Given the description of an element on the screen output the (x, y) to click on. 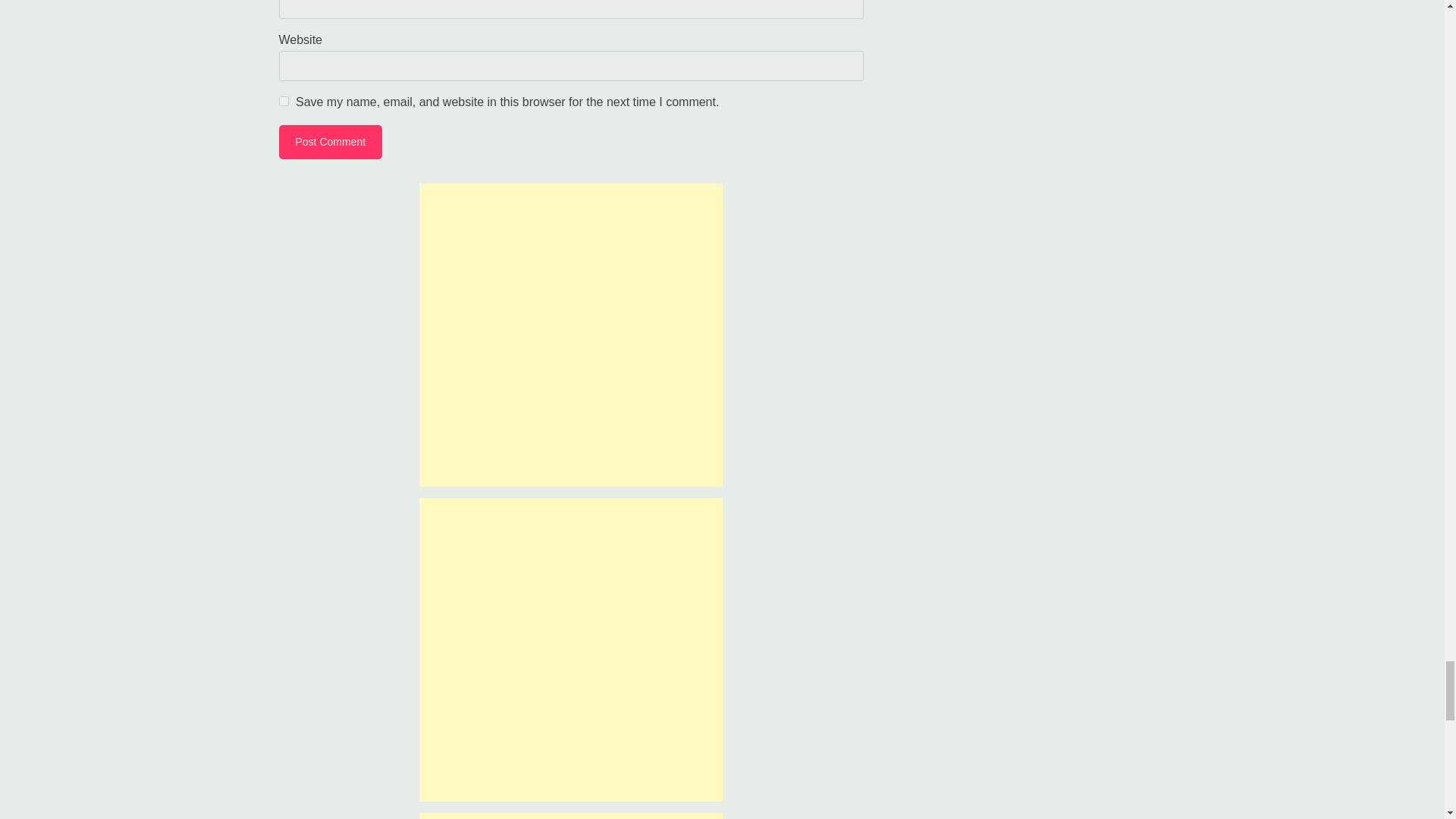
yes (283, 101)
Post Comment (330, 141)
